Given the description of an element on the screen output the (x, y) to click on. 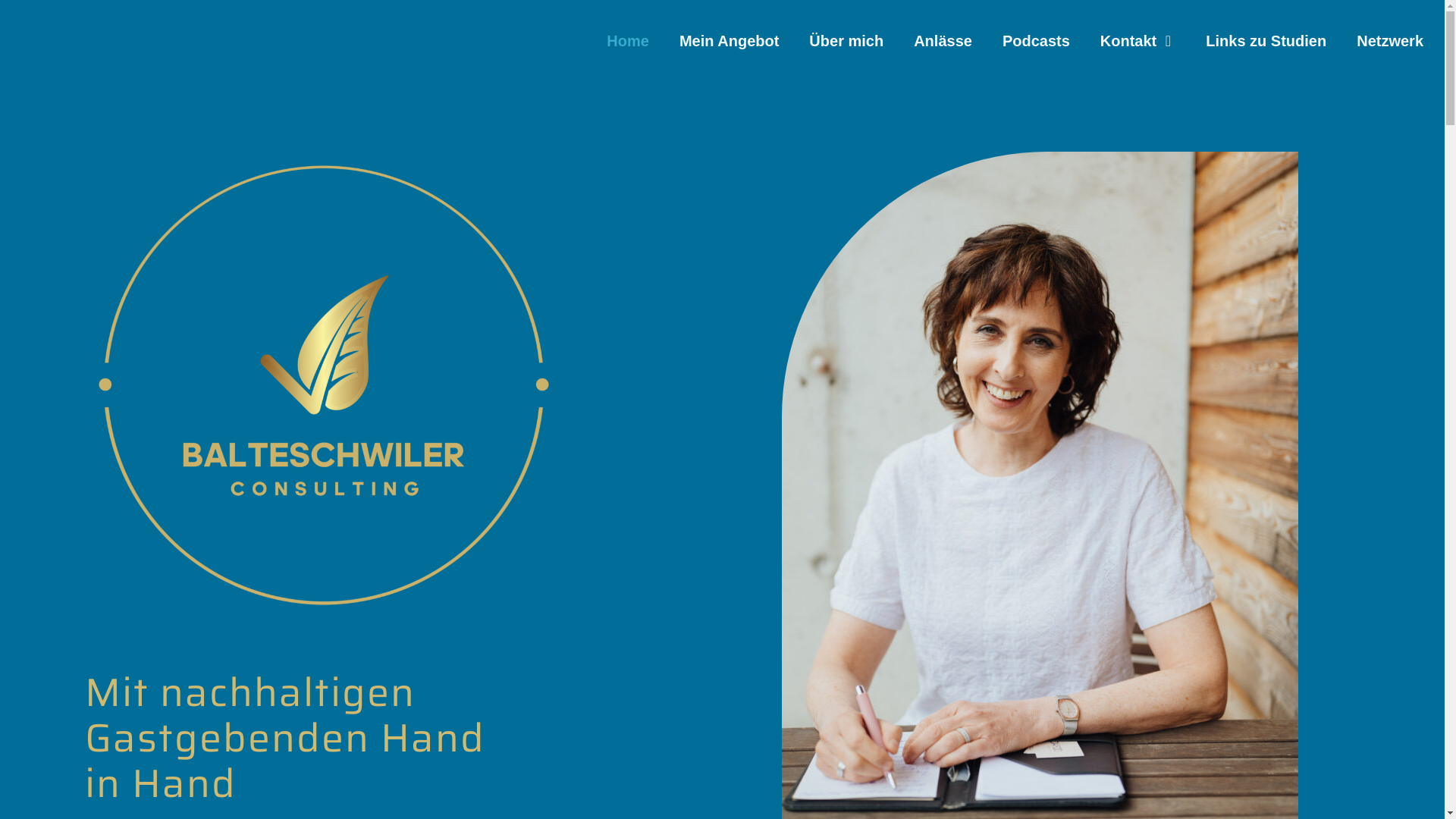
Links zu Studien Element type: text (1265, 40)
Home Element type: text (627, 87)
Home Element type: text (627, 40)
Mein Angebot Element type: text (728, 40)
Podcasts Element type: text (1036, 84)
Podcasts Element type: text (1036, 40)
Links zu Studien Element type: text (1265, 84)
Netzwerk Element type: text (1389, 40)
Kontakt Element type: text (1130, 84)
Kontakt Element type: text (1130, 40)
Mein Angebot Element type: text (728, 84)
Netzwerk Element type: text (1389, 84)
